Given the description of an element on the screen output the (x, y) to click on. 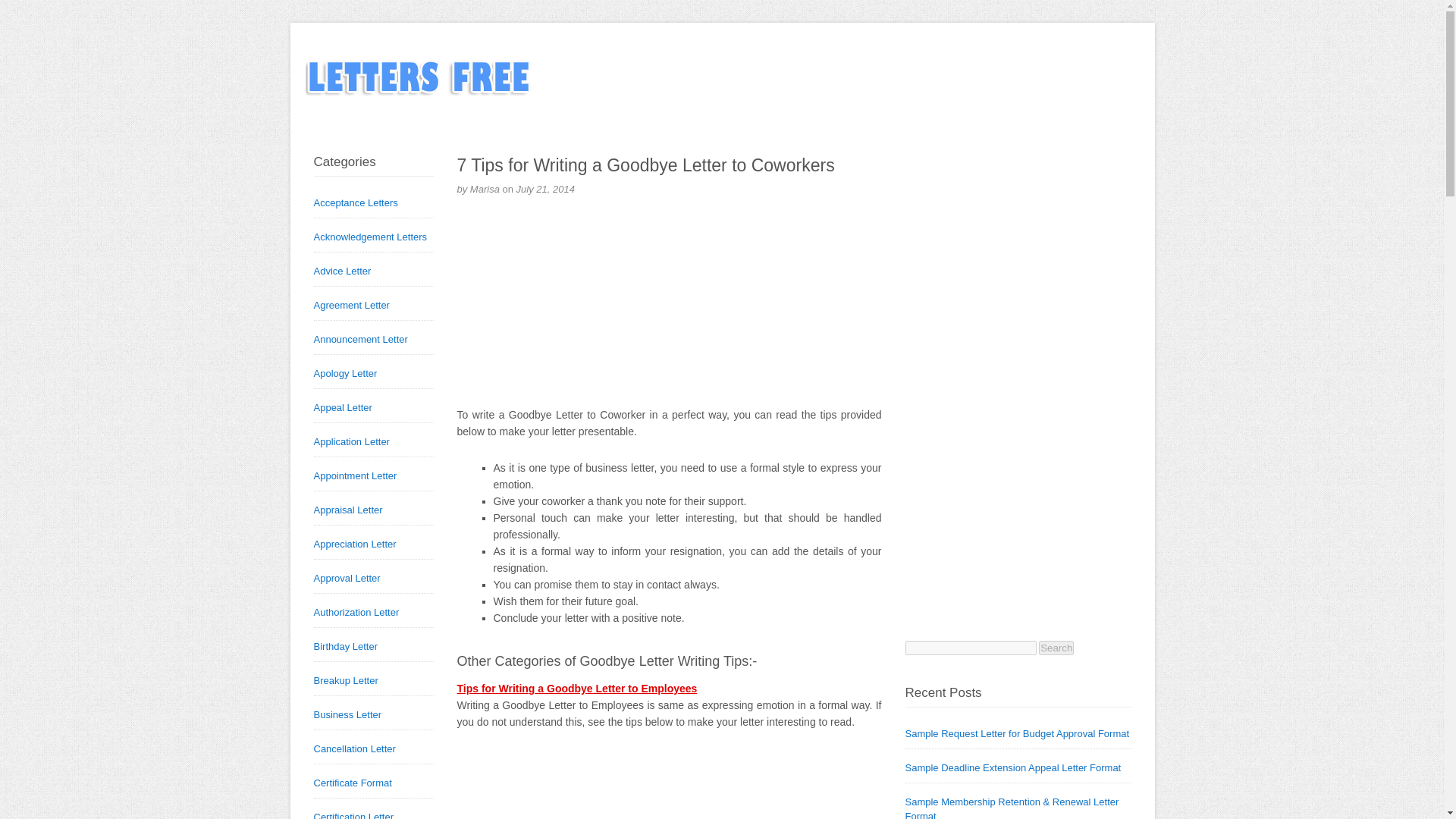
Acknowledgement Letters (371, 236)
Apology Letter (345, 373)
Approval Letter (347, 577)
Announcement Letter (360, 338)
Appeal Letter (343, 407)
Breakup Letter (346, 680)
2014-07-21 (545, 188)
Agreement Letter (352, 305)
Cancellation Letter (355, 748)
Acceptance Letters (355, 202)
